Given the description of an element on the screen output the (x, y) to click on. 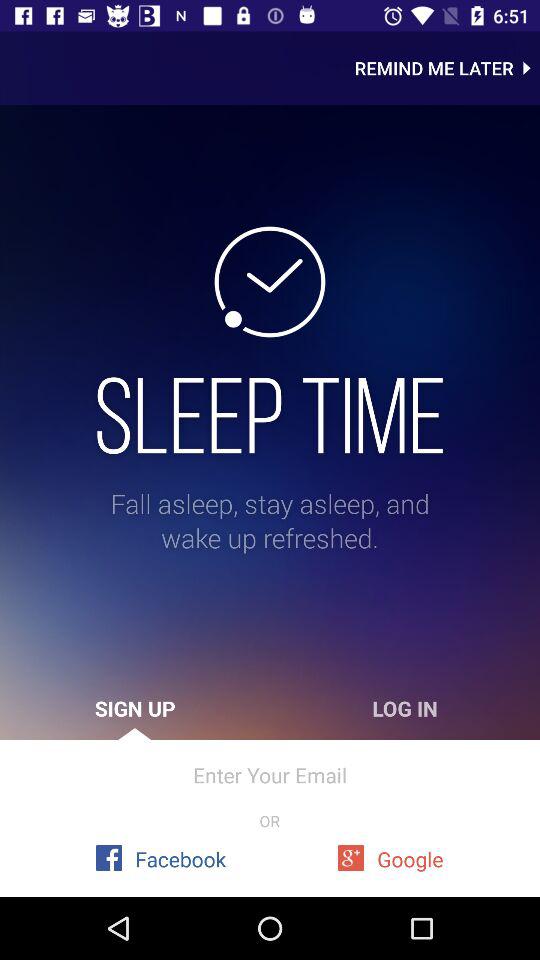
turn off item at the top right corner (447, 67)
